Given the description of an element on the screen output the (x, y) to click on. 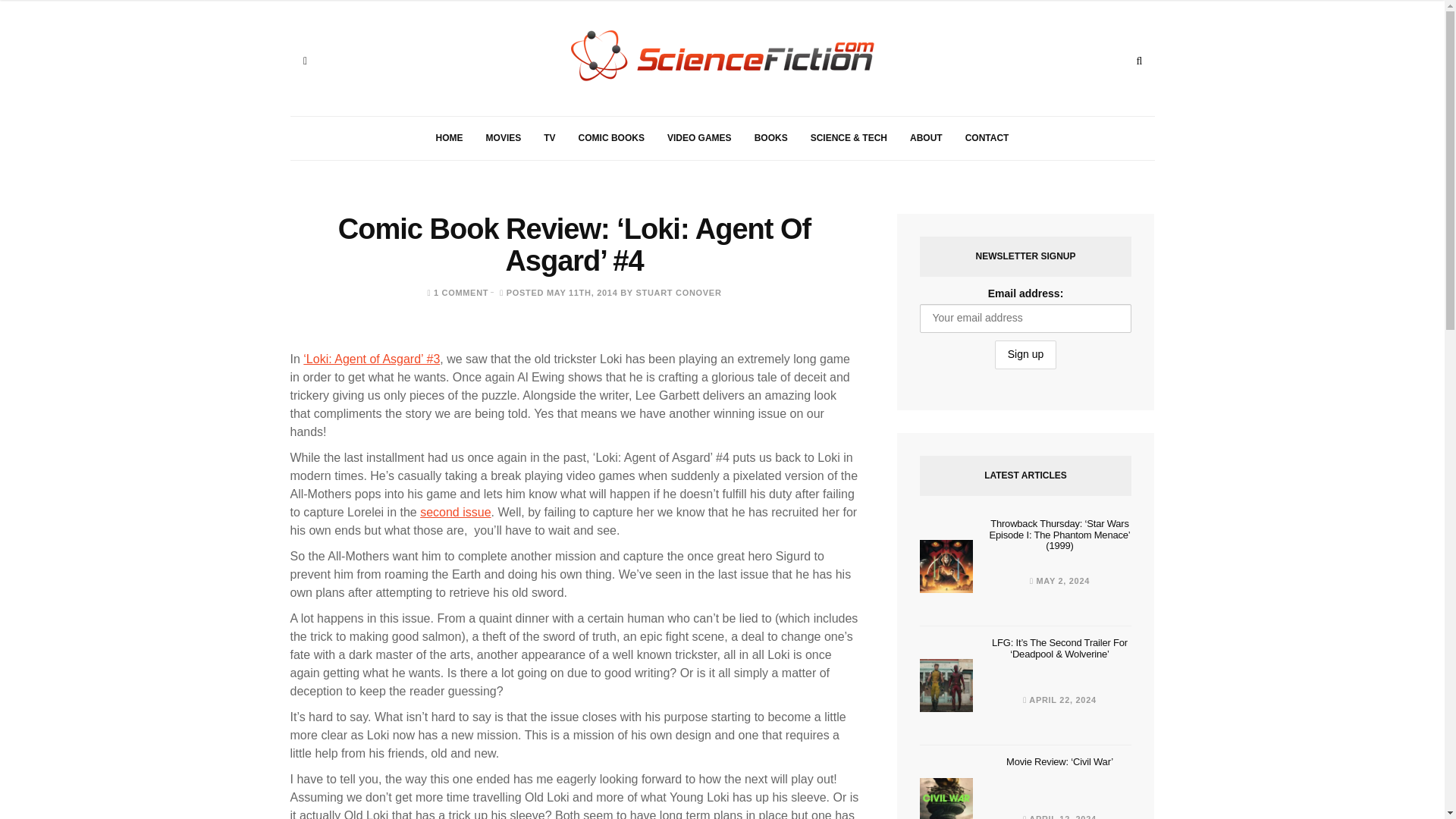
HOME (449, 138)
ABOUT (925, 138)
MOVIES (503, 138)
Posts by Stuart Conover (677, 292)
Search (1139, 60)
Sign up (1025, 354)
CONTACT (986, 138)
VIDEO GAMES (699, 138)
BOOKS (770, 138)
COMIC BOOKS (611, 138)
